Given the description of an element on the screen output the (x, y) to click on. 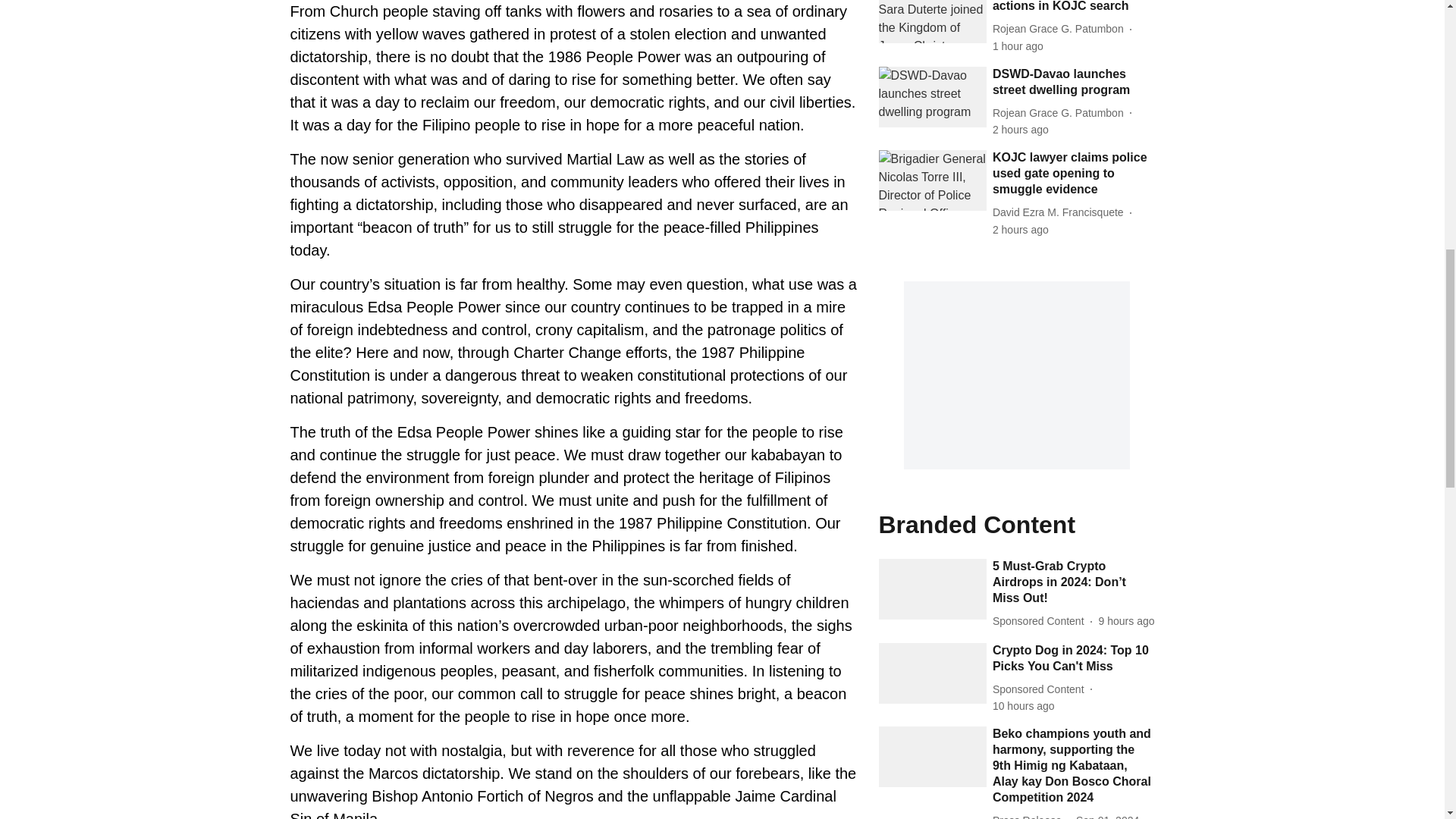
2024-09-02 08:45 (1126, 621)
2024-09-02 07:33 (1023, 706)
2024-09-01 04:07 (1106, 816)
2024-09-02 16:20 (1017, 46)
2024-09-02 15:50 (1020, 229)
2024-09-02 16:01 (1020, 130)
